Given the description of an element on the screen output the (x, y) to click on. 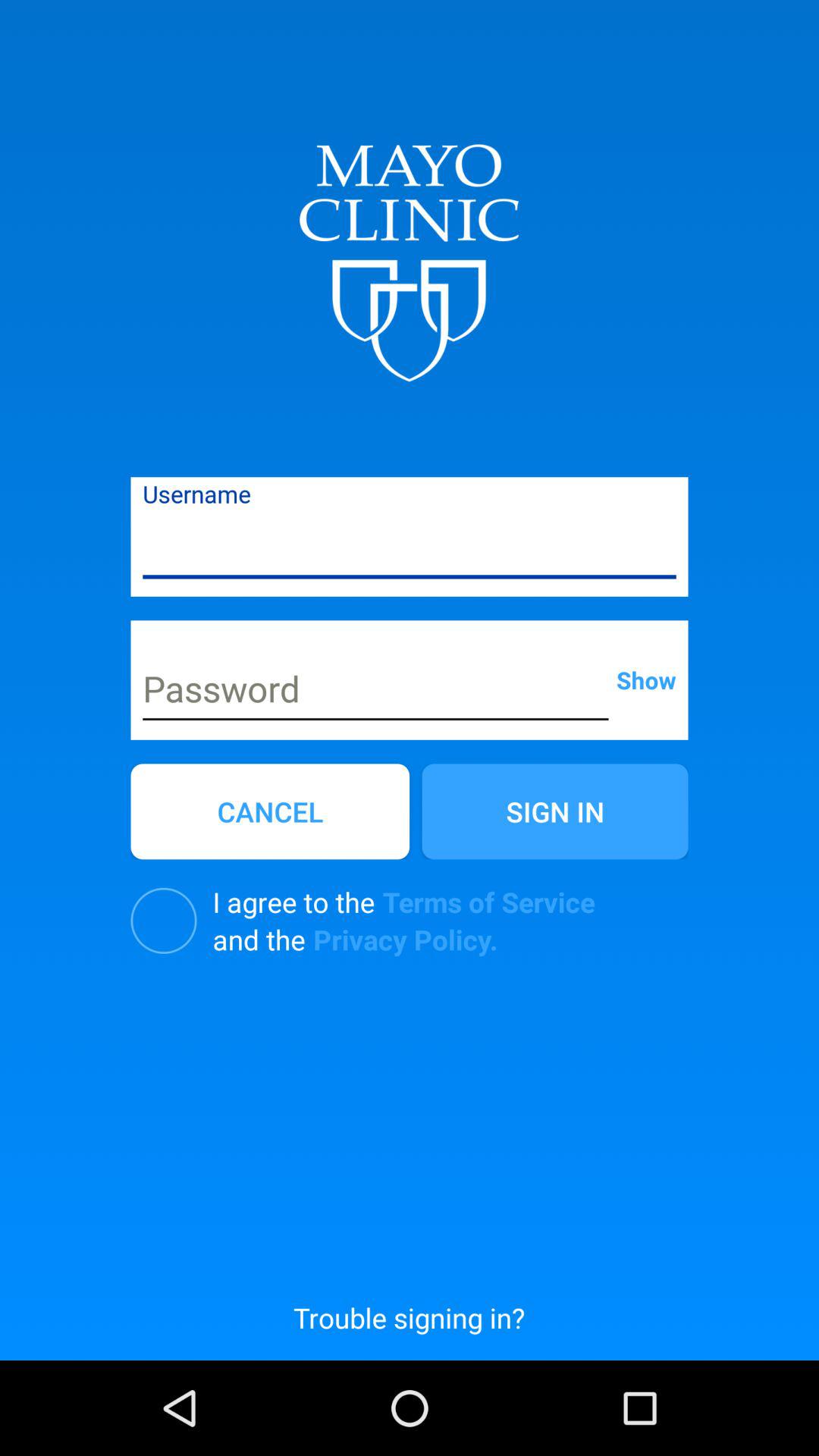
click on the icon below cancel (164, 920)
select the text show beside password option (646, 679)
click on the option at the bottom center (408, 1317)
click on sign in (555, 810)
click password (375, 691)
